Given the description of an element on the screen output the (x, y) to click on. 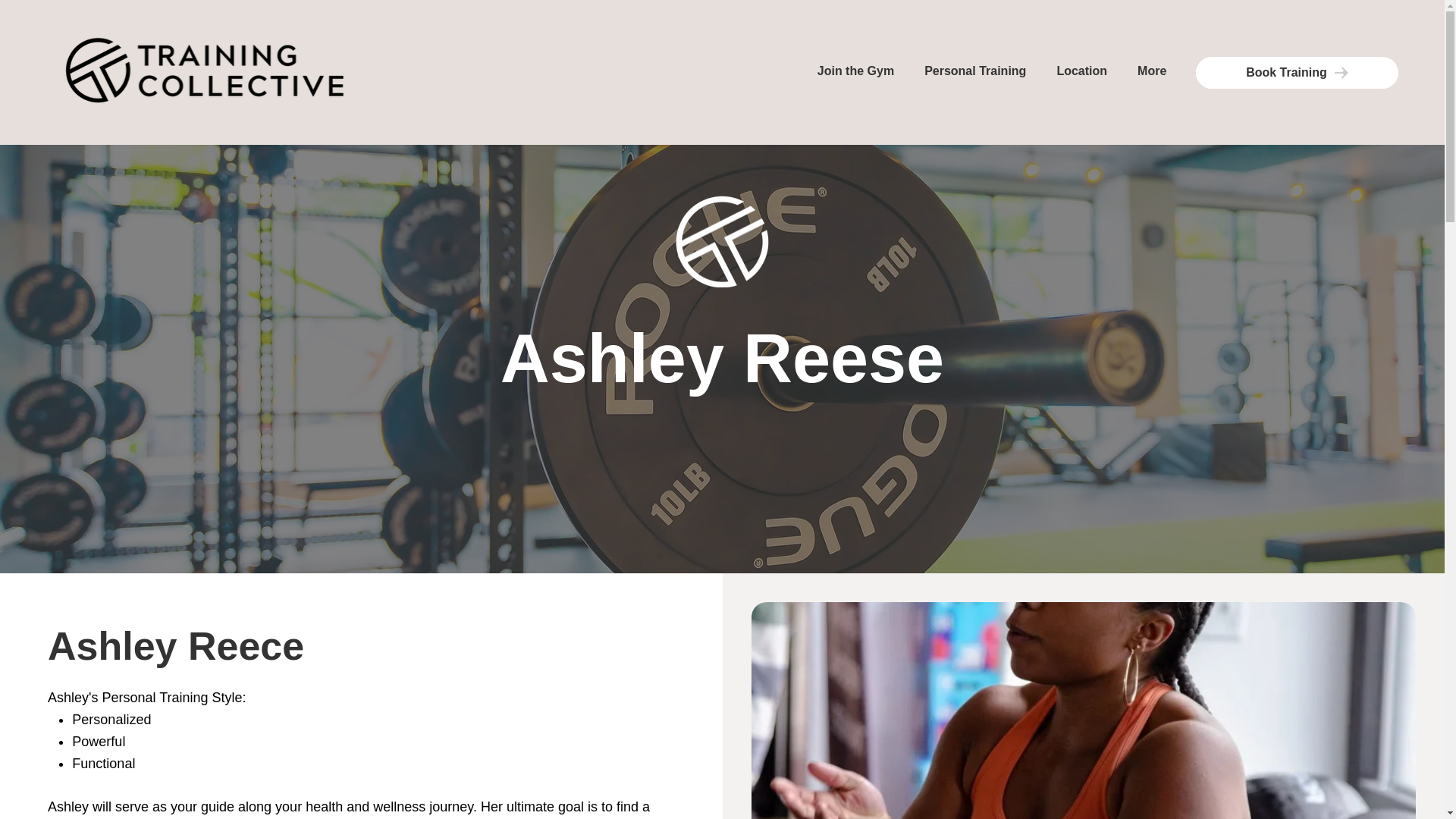
Book Training (799, 70)
Join the Gym (1296, 72)
Location (855, 70)
